Given the description of an element on the screen output the (x, y) to click on. 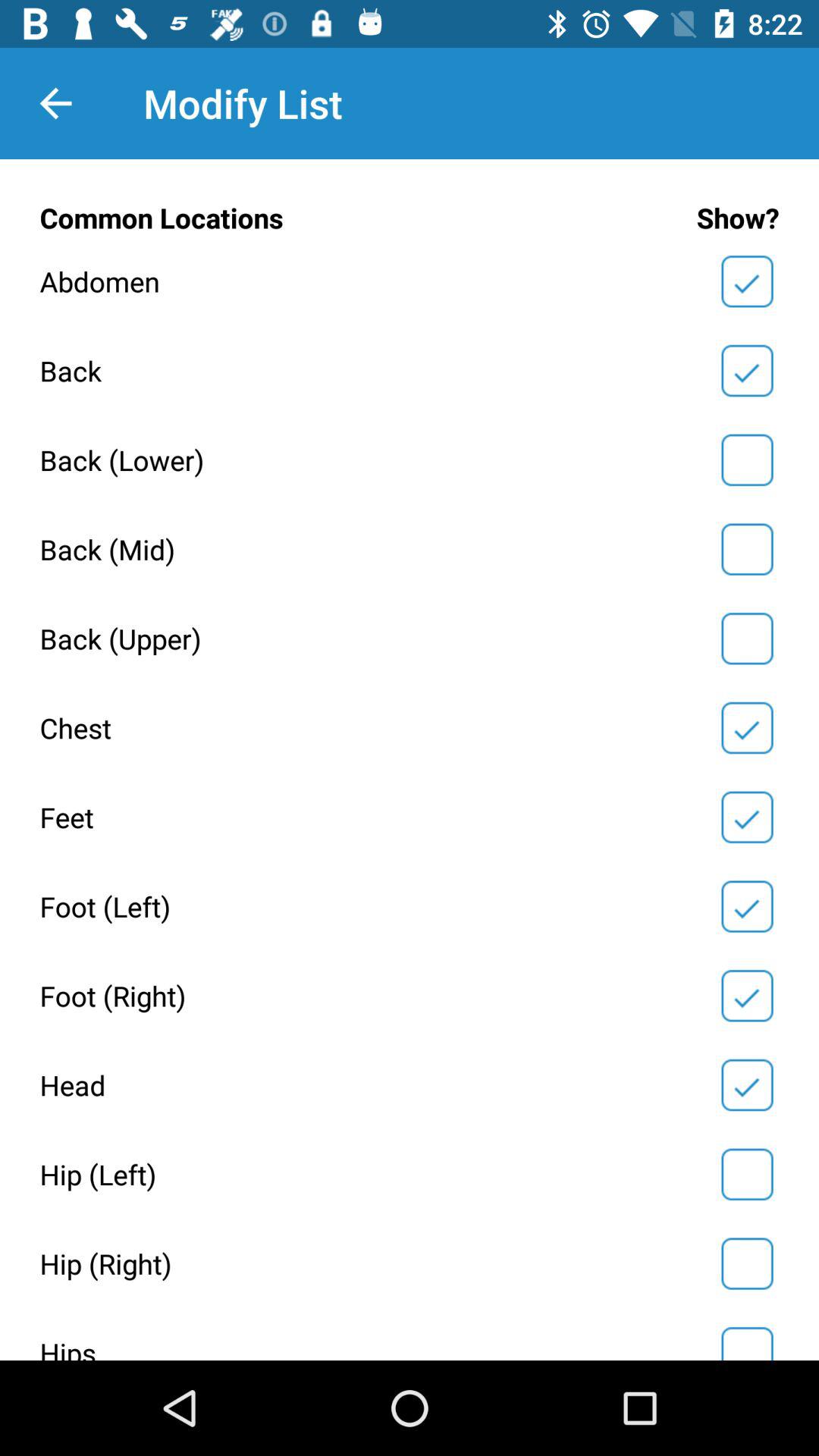
select this option (747, 638)
